Given the description of an element on the screen output the (x, y) to click on. 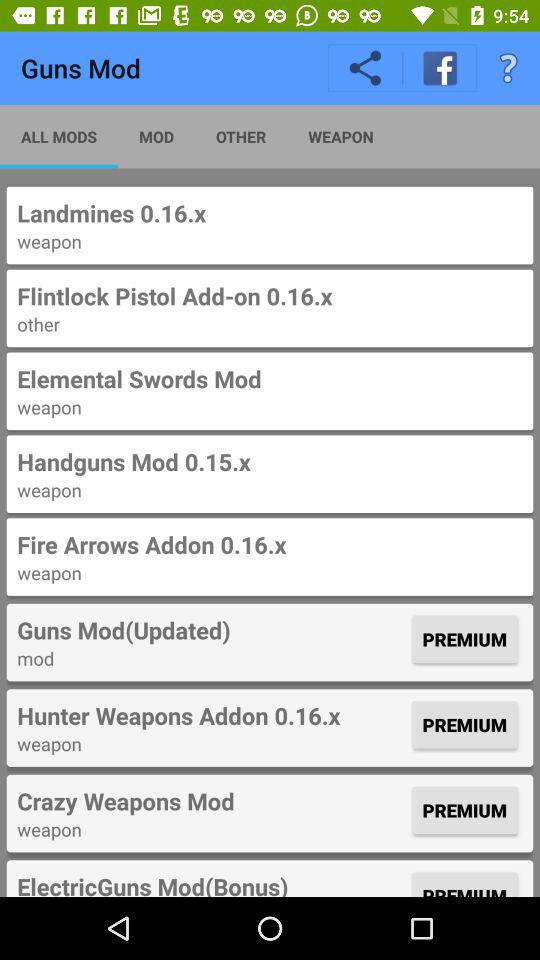
choose icon to the left of the premium item (211, 801)
